Given the description of an element on the screen output the (x, y) to click on. 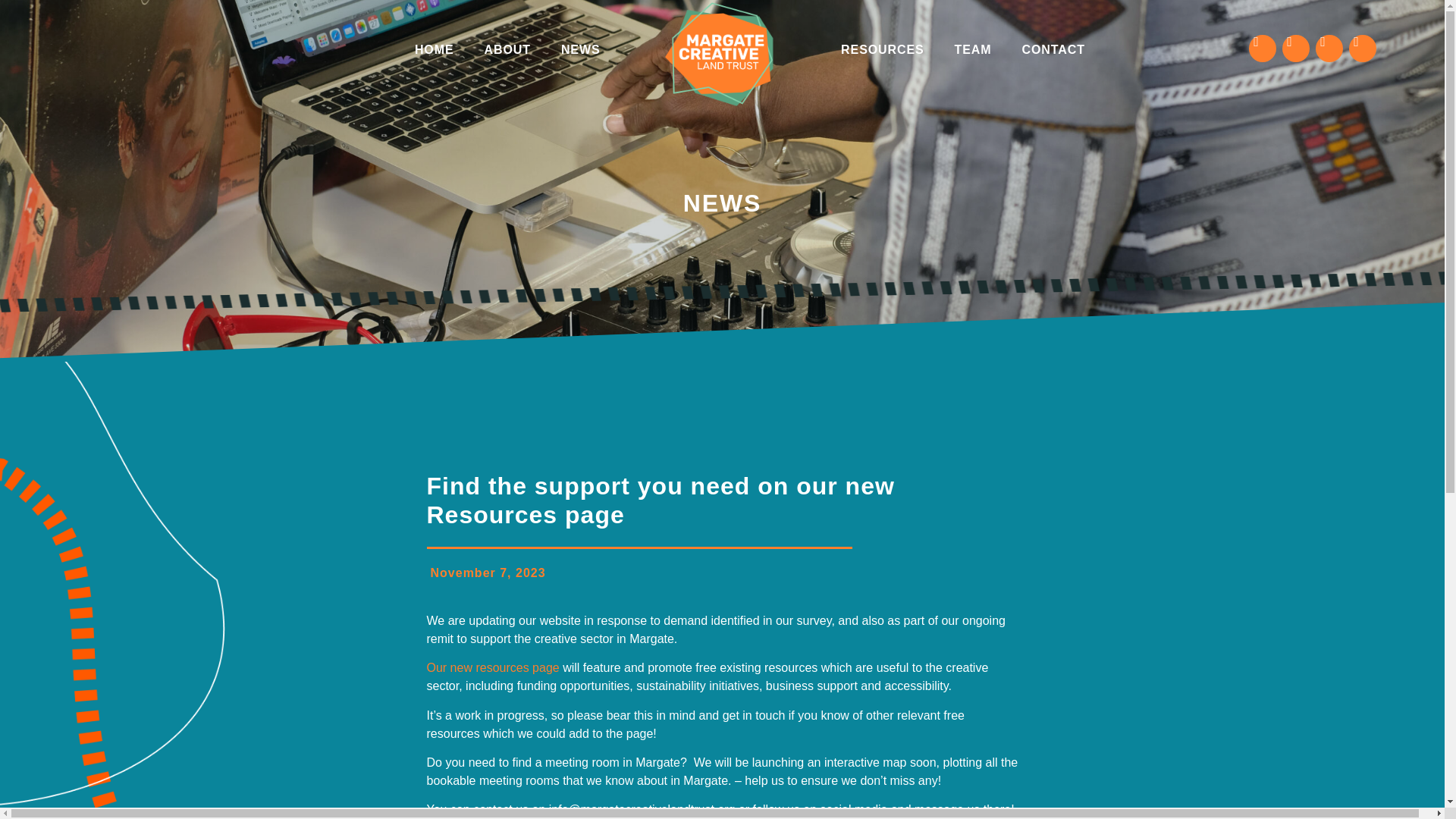
CONTACT (1053, 49)
ABOUT (506, 49)
NEWS (580, 49)
TEAM (973, 49)
HOME (433, 49)
RESOURCES (882, 49)
Our new resources page (492, 667)
